Given the description of an element on the screen output the (x, y) to click on. 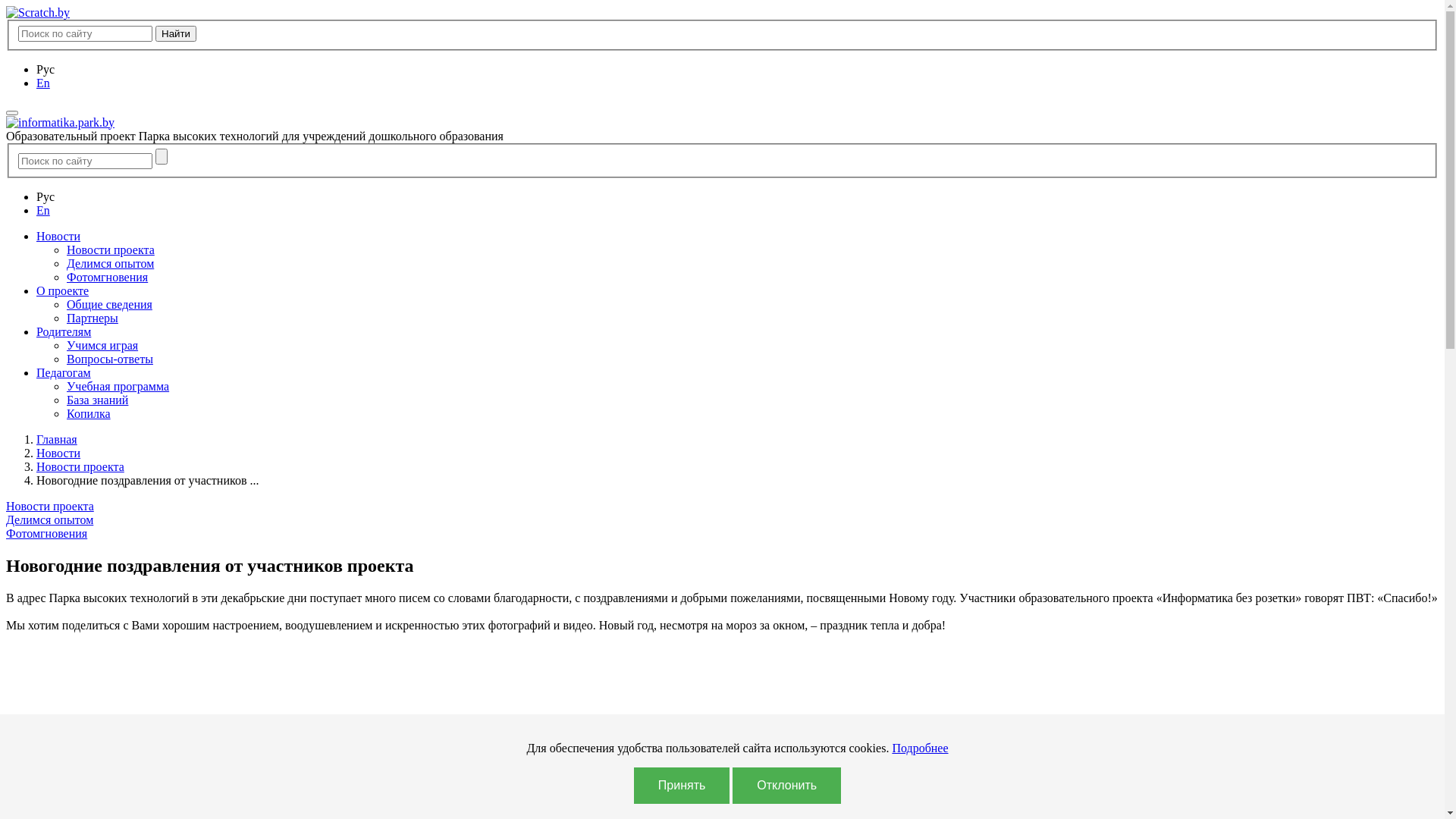
informatika.park.by Element type: hover (60, 122)
Scratch.by Element type: hover (37, 12)
En Element type: text (43, 209)
En Element type: text (43, 82)
